Given the description of an element on the screen output the (x, y) to click on. 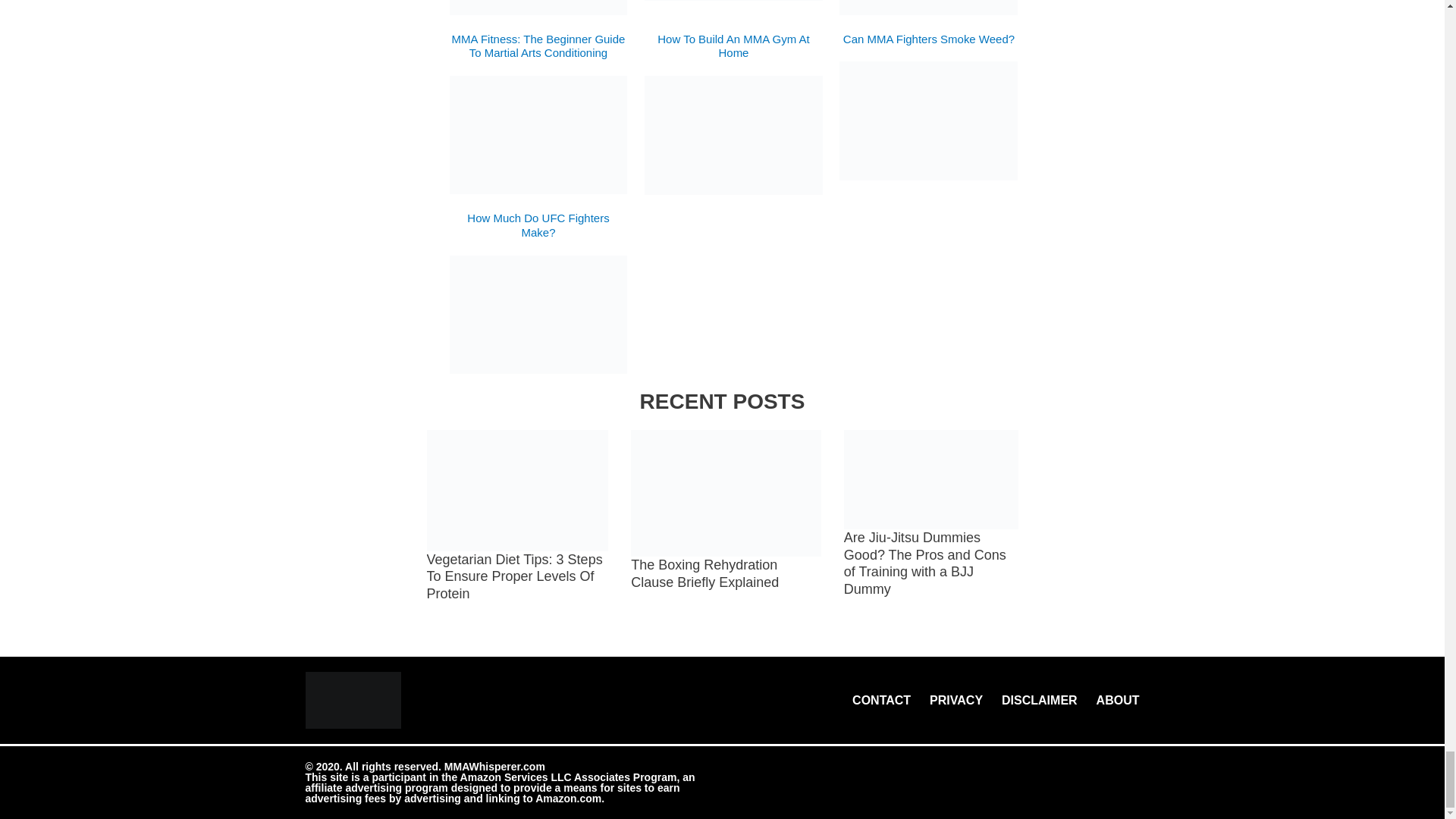
Why Do UFC Fighters Have Weird Ears? 6 (537, 7)
MMA Workouts At Home: Technique Drills And Conditioning 8 (928, 7)
